Given the description of an element on the screen output the (x, y) to click on. 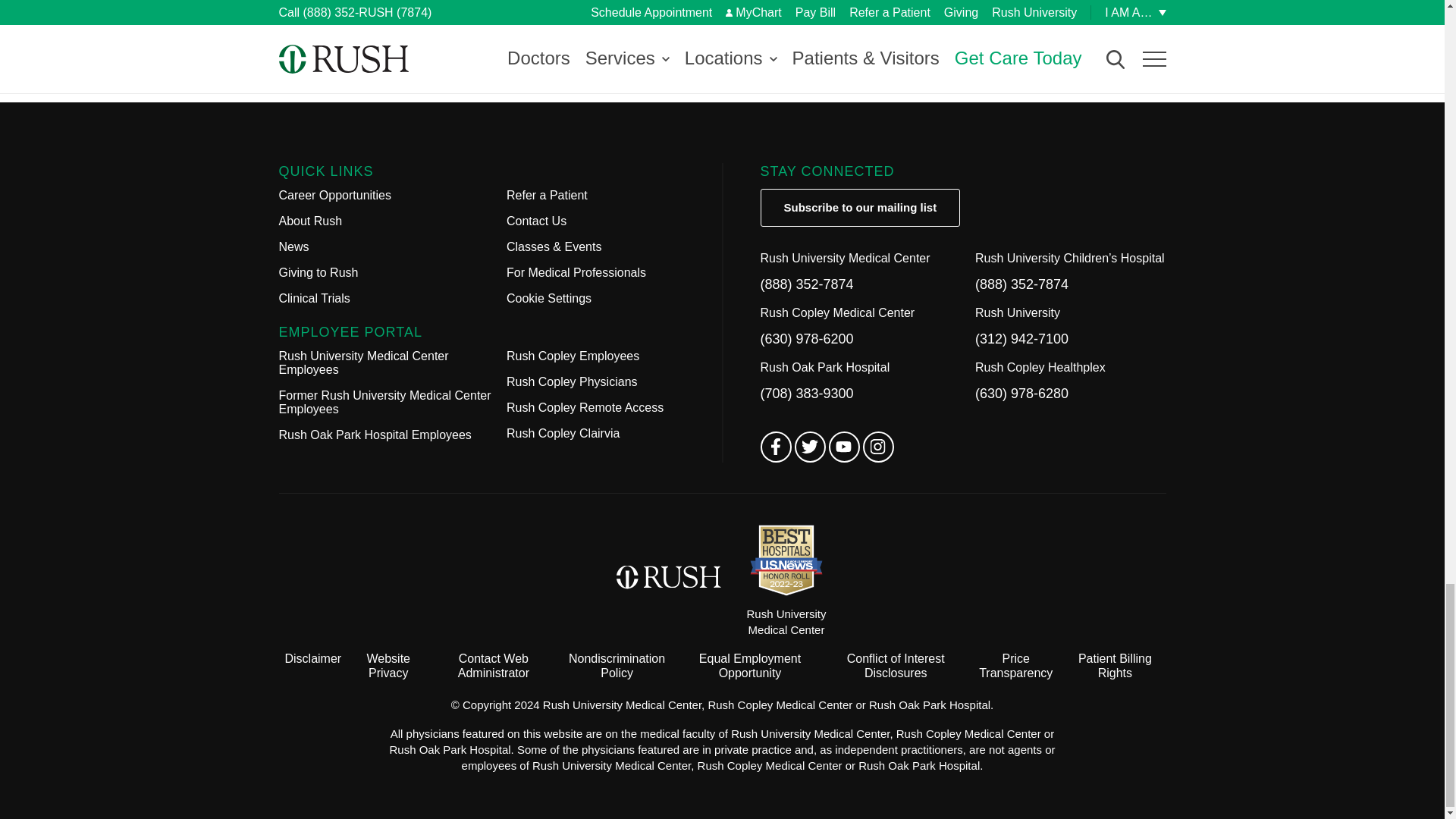
Rush is an equal opportunity employer.  (749, 665)
